Given the description of an element on the screen output the (x, y) to click on. 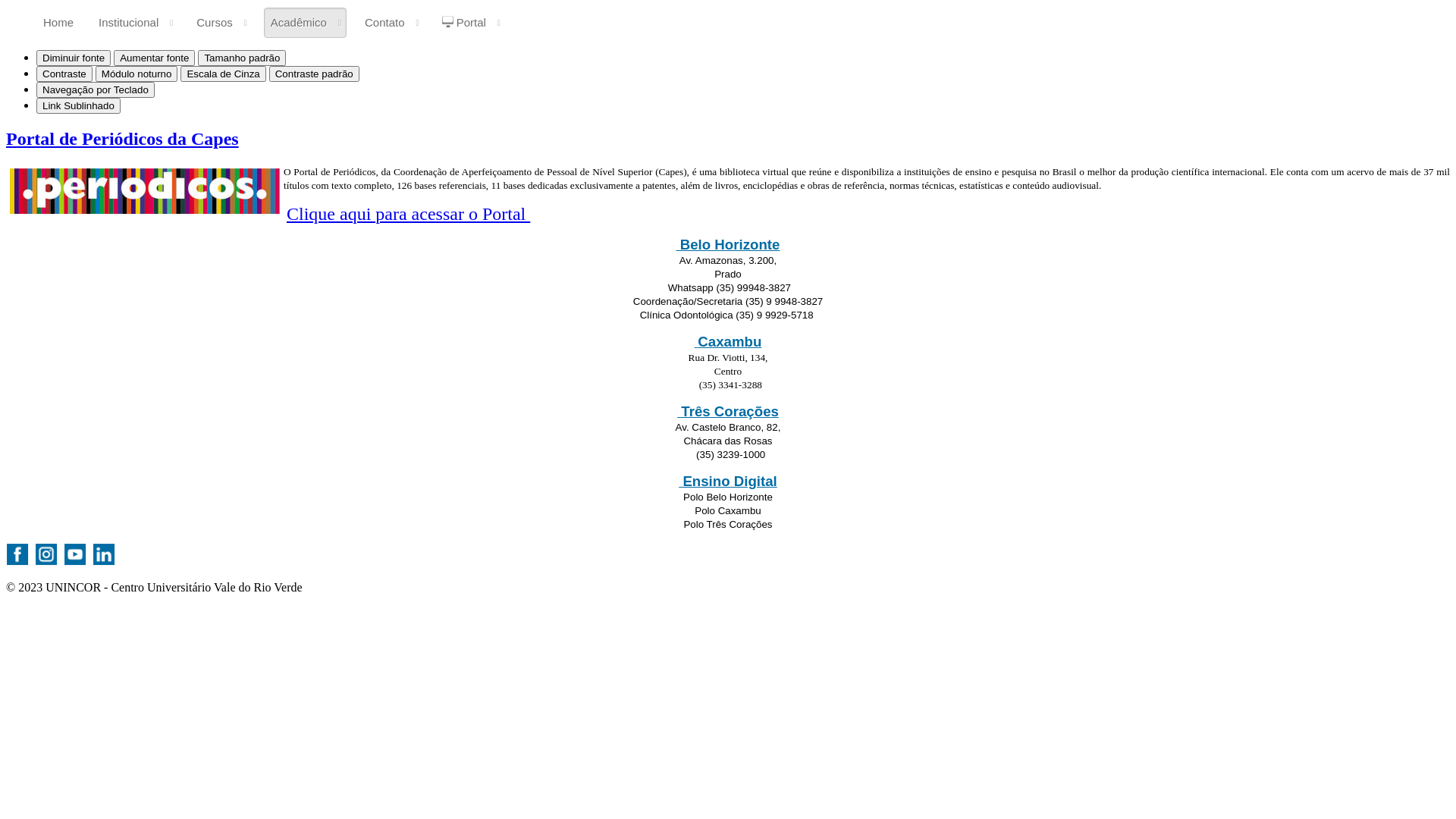
Aumentar fonte Element type: text (153, 57)
Contraste Element type: text (64, 73)
 Caxambu Element type: text (728, 341)
Cursos Element type: text (220, 22)
Escala de Cinza Element type: text (222, 73)
 Belo Horizonte Element type: text (728, 244)
Institucional Element type: text (134, 22)
 Ensino Digital Element type: text (727, 481)
Diminuir fonte Element type: text (73, 57)
Portal Element type: text (470, 22)
Home Element type: text (58, 22)
Clique aqui para acessar o Portal  Element type: text (408, 213)
Link Sublinhado Element type: text (78, 105)
Contato Element type: text (390, 22)
